Given the description of an element on the screen output the (x, y) to click on. 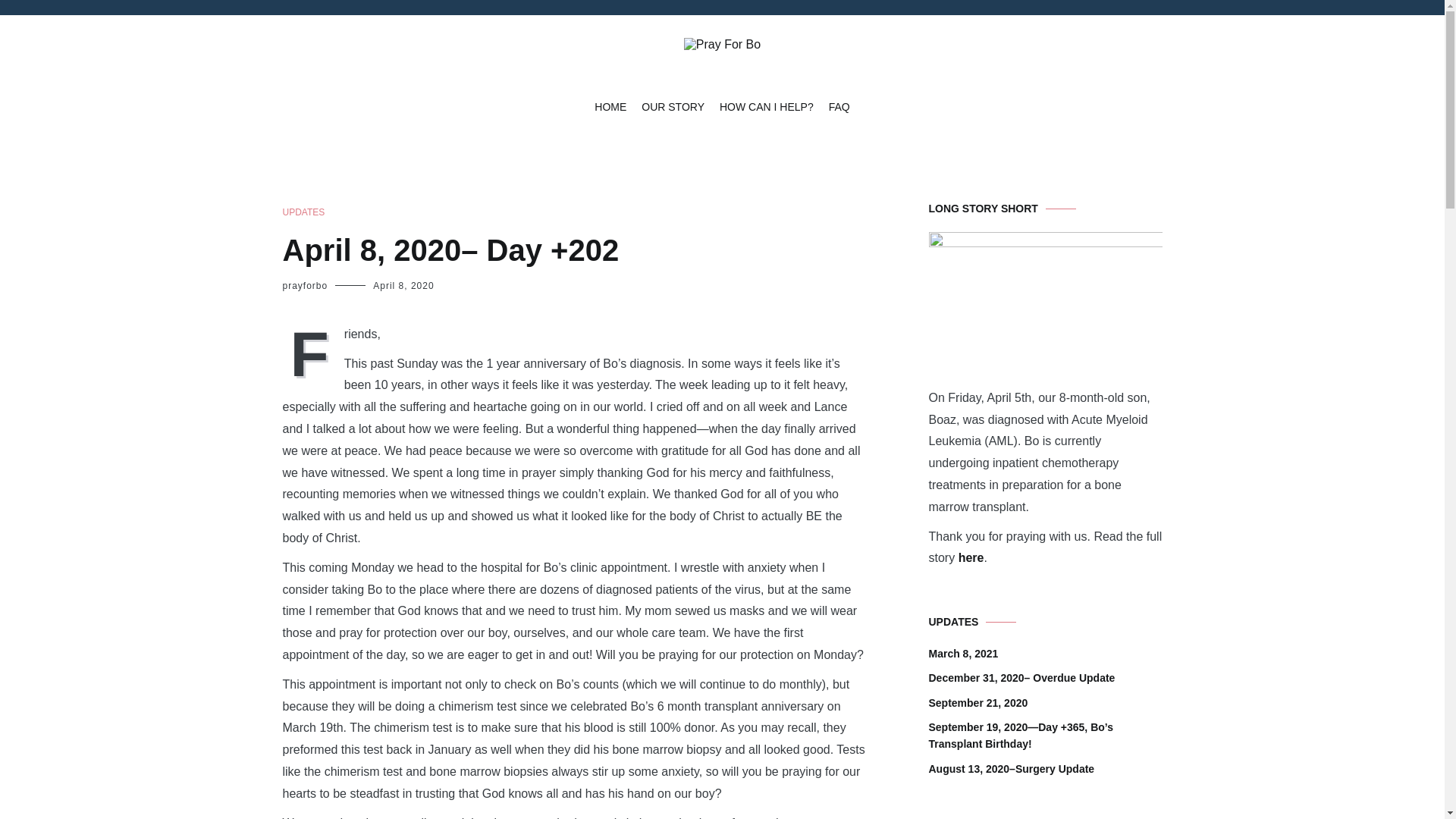
September 21, 2020 (977, 702)
O (1044, 317)
UPDATES (303, 212)
Pray For Bo (729, 88)
F (312, 351)
HOW CAN I HELP? (766, 107)
March 8, 2021 (962, 653)
prayforbo (304, 285)
here (971, 557)
OUR STORY (673, 107)
